Given the description of an element on the screen output the (x, y) to click on. 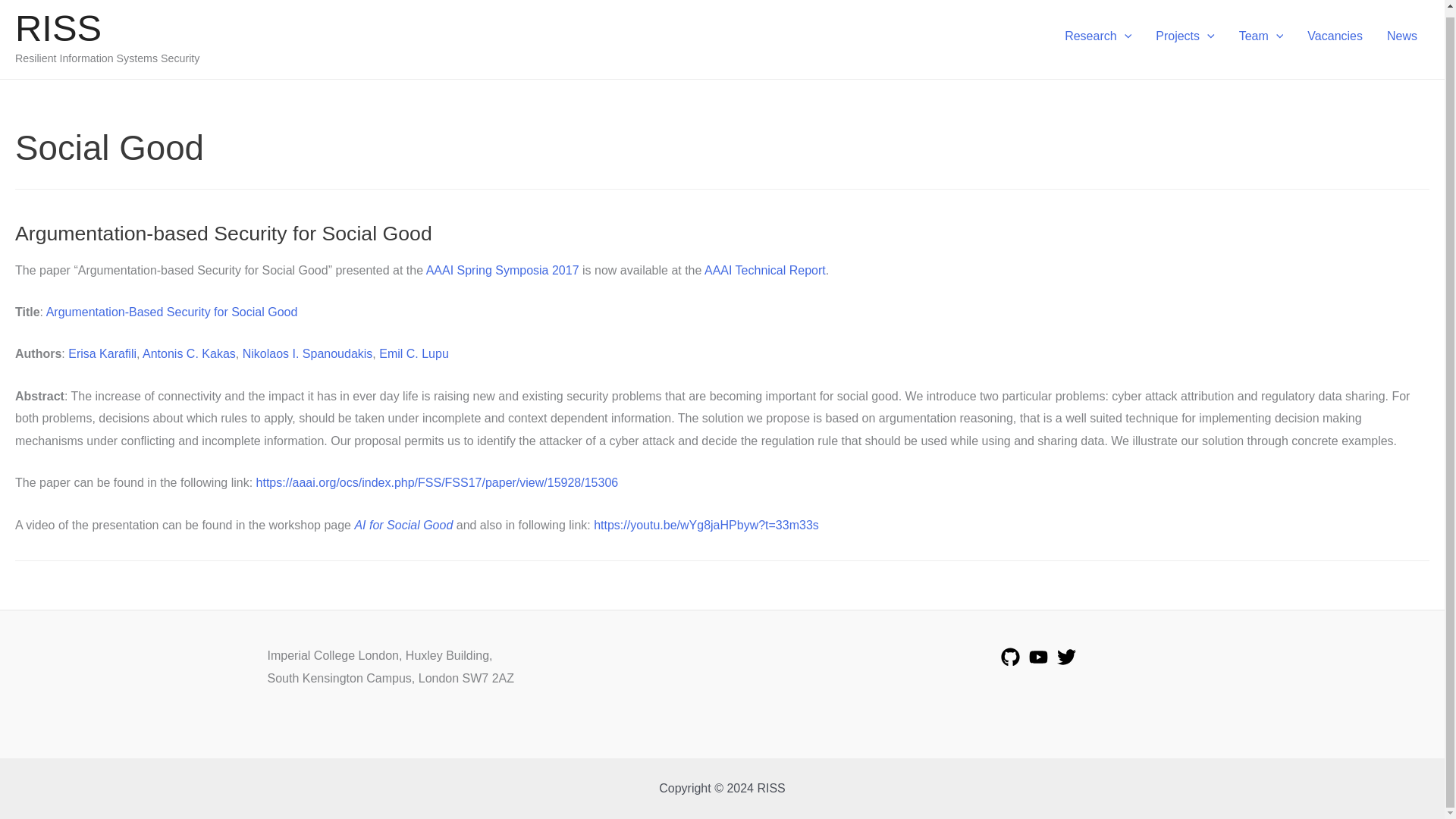
Argumentation-Based Security for Social Good (172, 311)
Antonis C. Kakas (188, 353)
Argumentation-based Security for Social Good (223, 232)
Projects (1183, 36)
Team (1261, 36)
AAAI Technical Report (764, 269)
Vacancies (1334, 36)
Nikolaos I. Spanoudakis (307, 353)
News (1401, 36)
Erisa Karafili (102, 353)
